Given the description of an element on the screen output the (x, y) to click on. 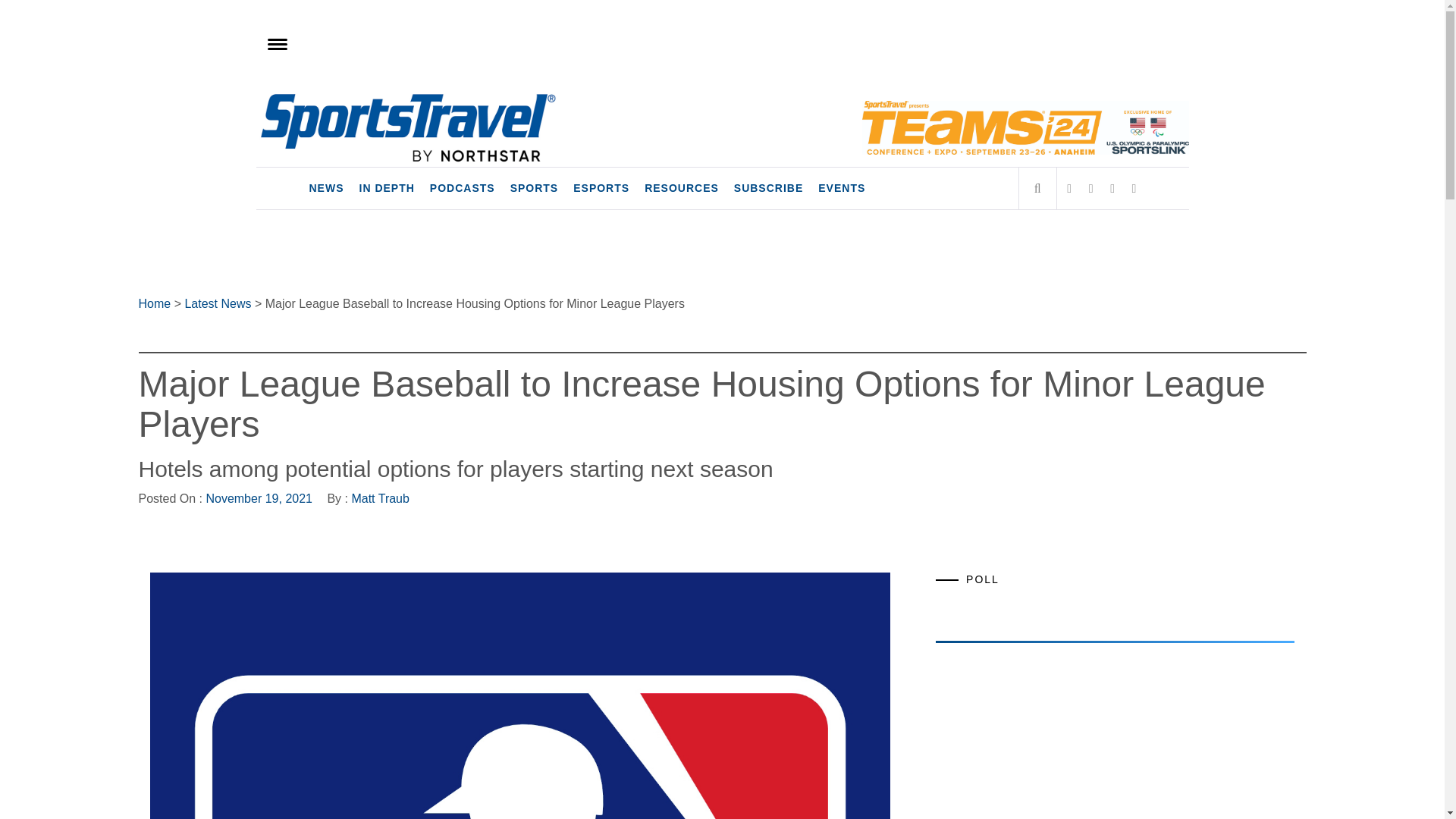
ESPORTS (601, 188)
PODCASTS (462, 188)
RESOURCES (681, 188)
IN DEPTH (387, 188)
SPORTS (534, 188)
NEWS (326, 188)
SportsTravel (354, 108)
